Given the description of an element on the screen output the (x, y) to click on. 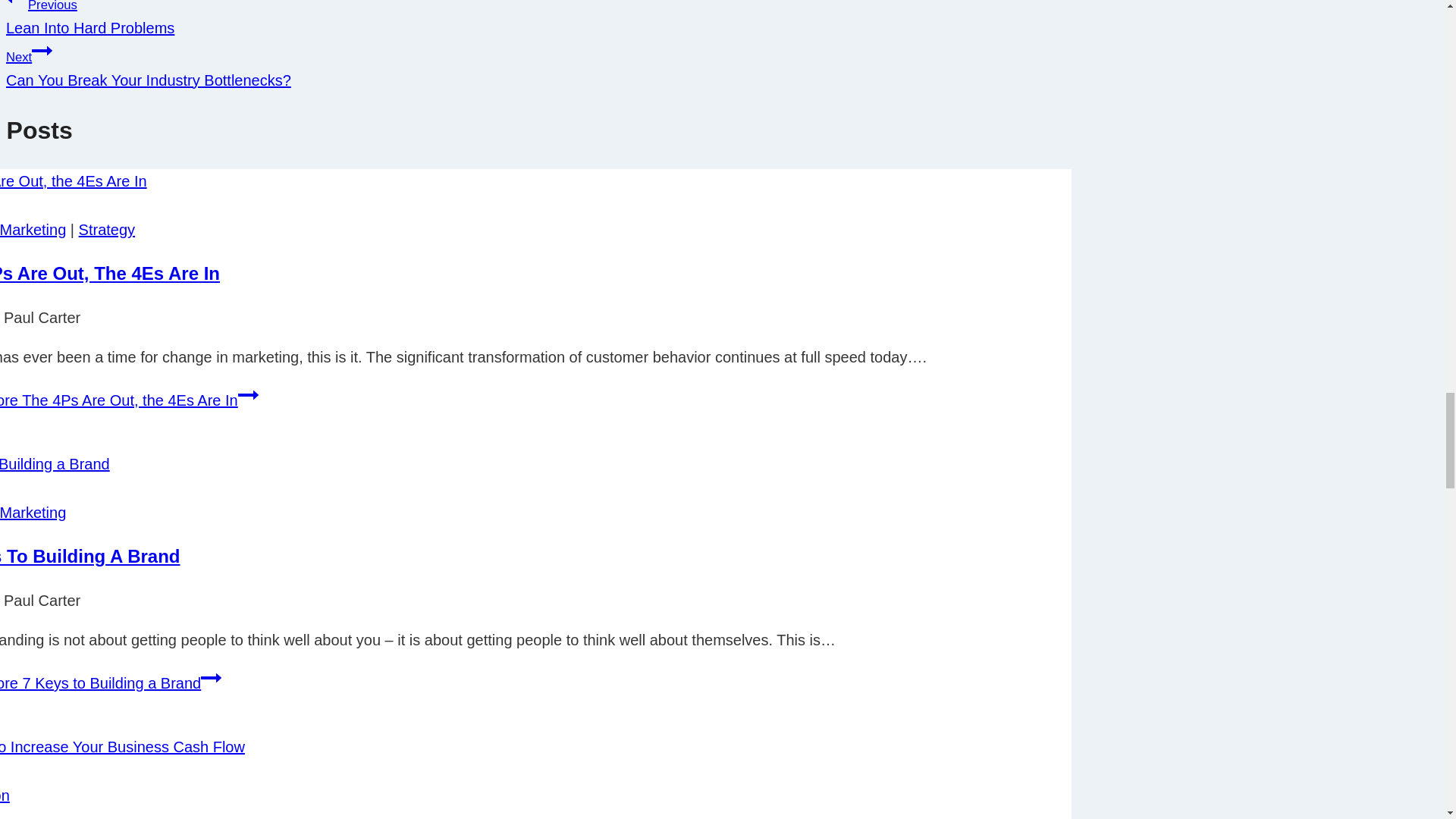
The 4Ps Are Out, The 4Es Are In (109, 272)
Continue (42, 50)
7 Keys To Building A Brand (494, 64)
Continue (89, 556)
Read More The 4Ps Are Out, the 4Es Are InContinue (248, 394)
Strategy (494, 18)
Read More 7 Keys to Building a BrandContinue (129, 400)
Previous (106, 229)
Continue (110, 682)
